Given the description of an element on the screen output the (x, y) to click on. 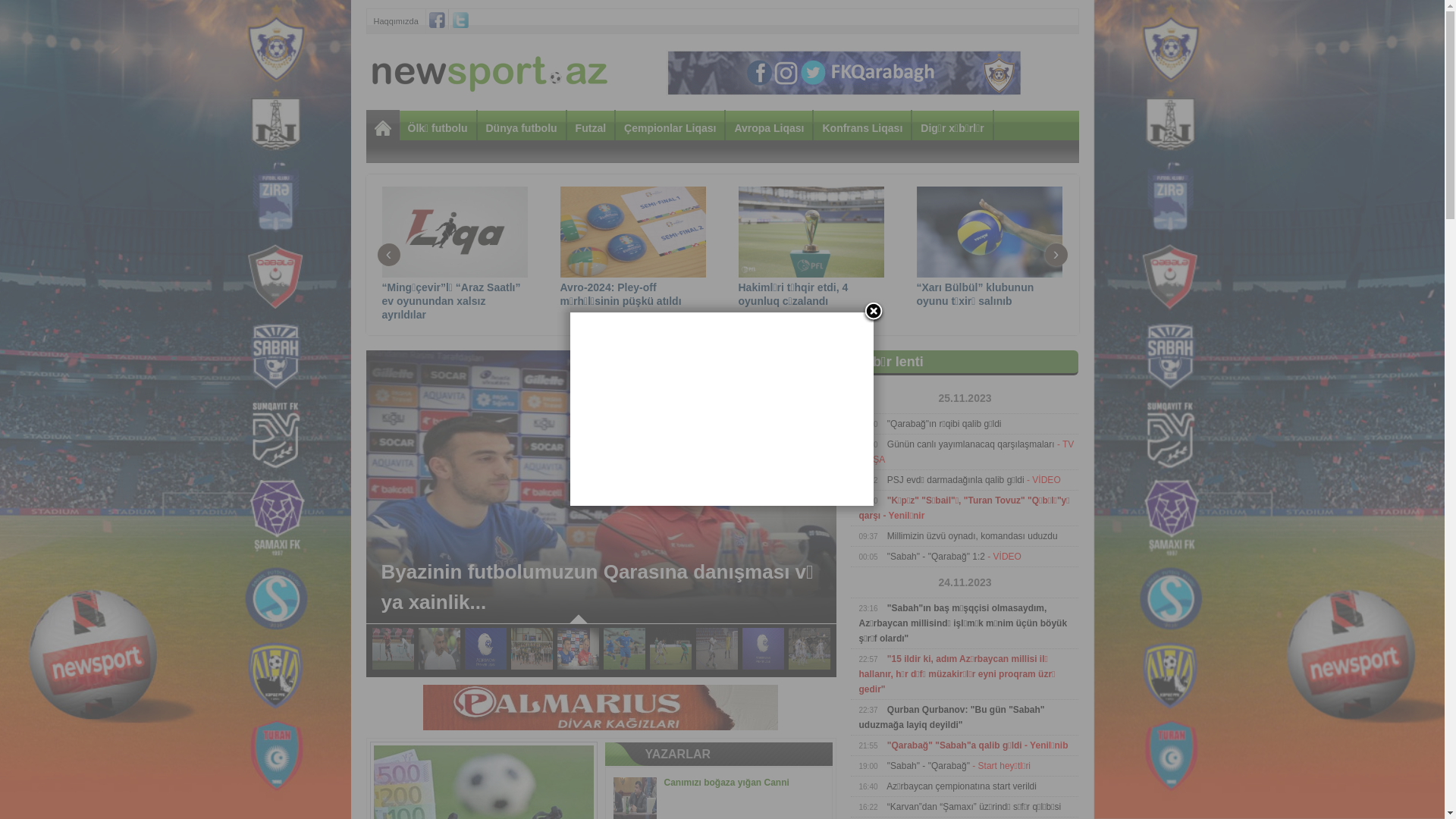
Futzal Element type: text (590, 126)
YAZARLAR Element type: text (677, 753)
